Given the description of an element on the screen output the (x, y) to click on. 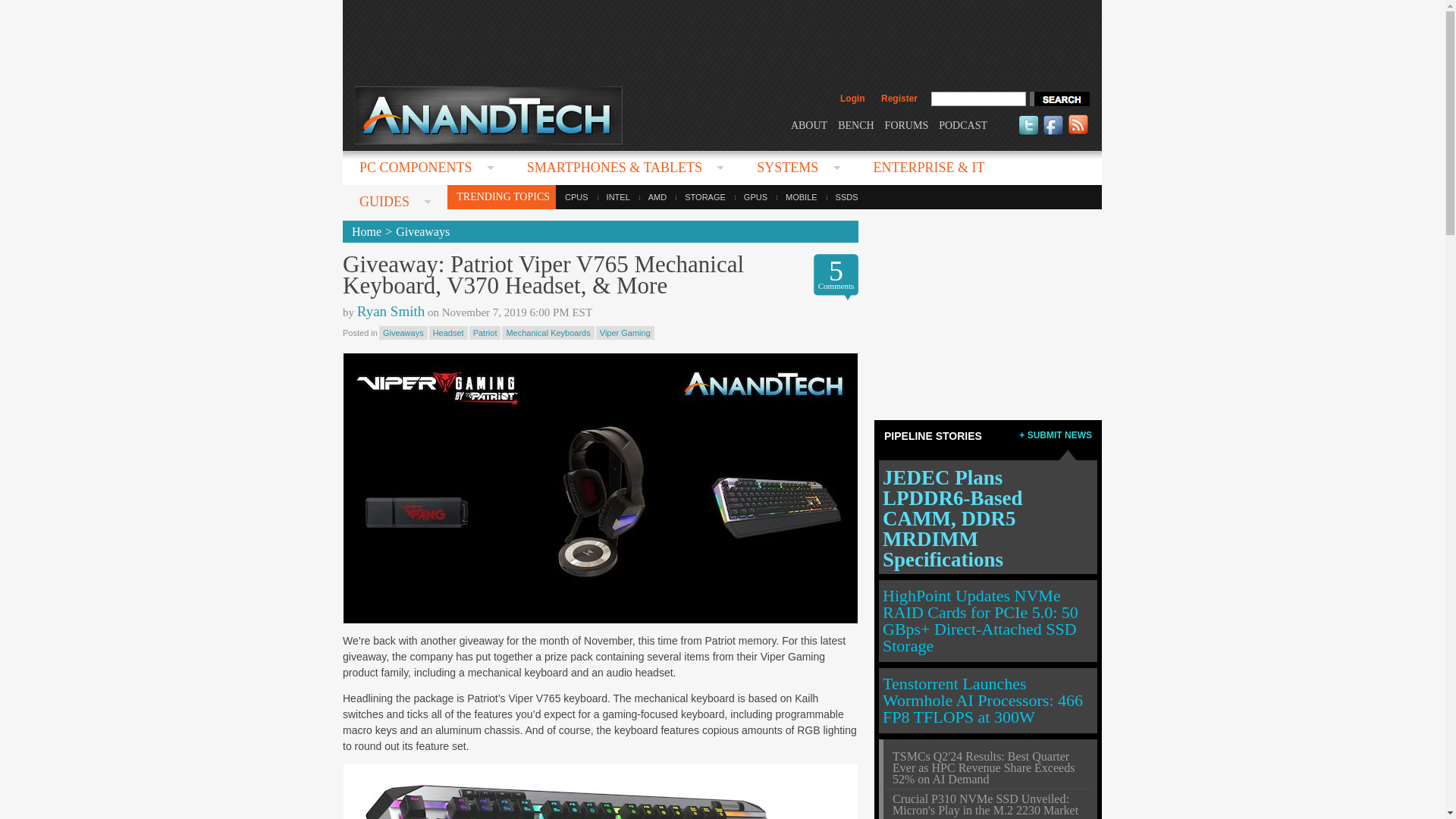
ABOUT (808, 125)
BENCH (855, 125)
Login (852, 98)
search (1059, 98)
search (1059, 98)
PODCAST (963, 125)
Register (898, 98)
FORUMS (906, 125)
search (1059, 98)
